Given the description of an element on the screen output the (x, y) to click on. 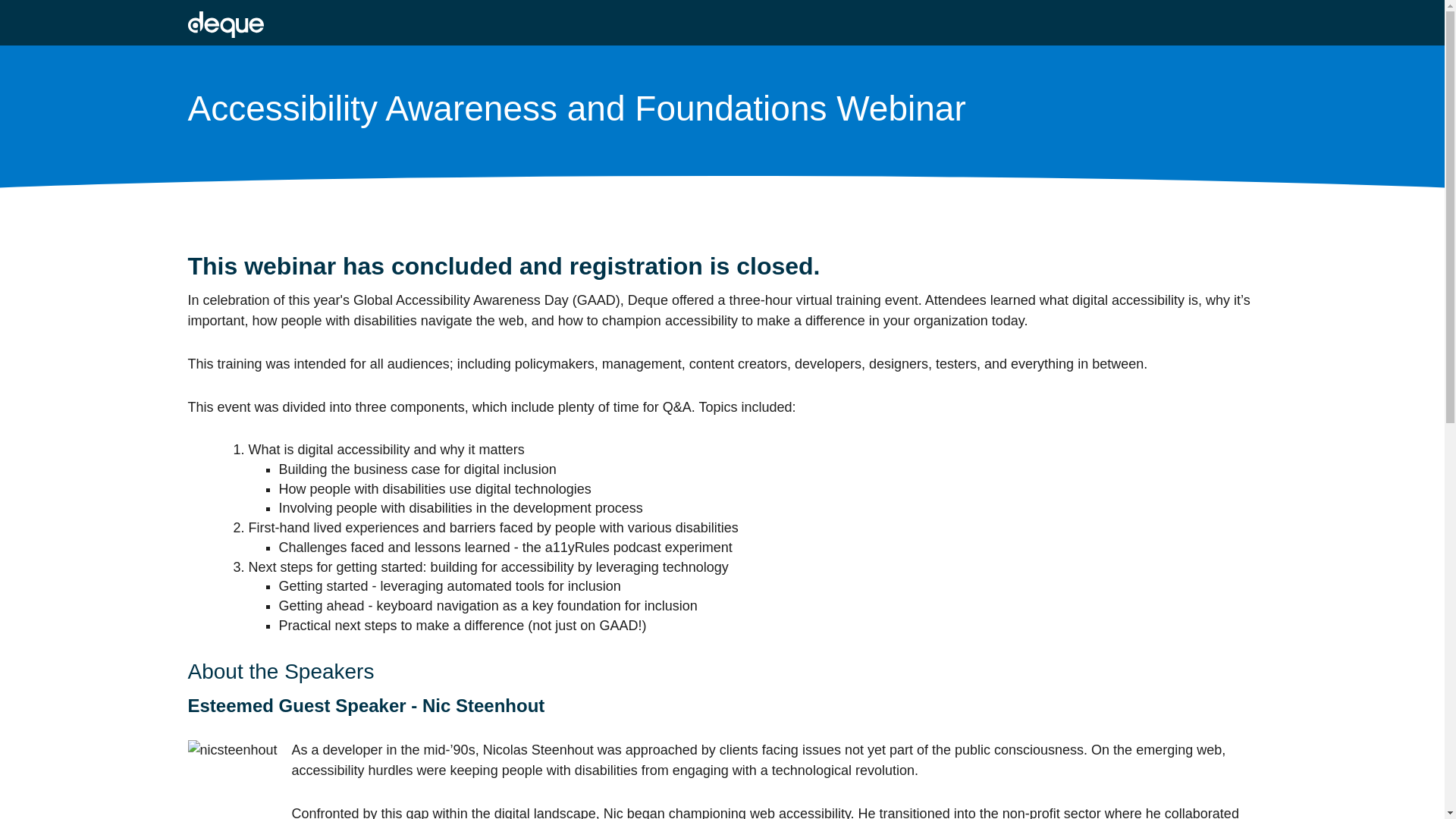
Deque (225, 24)
